Given the description of an element on the screen output the (x, y) to click on. 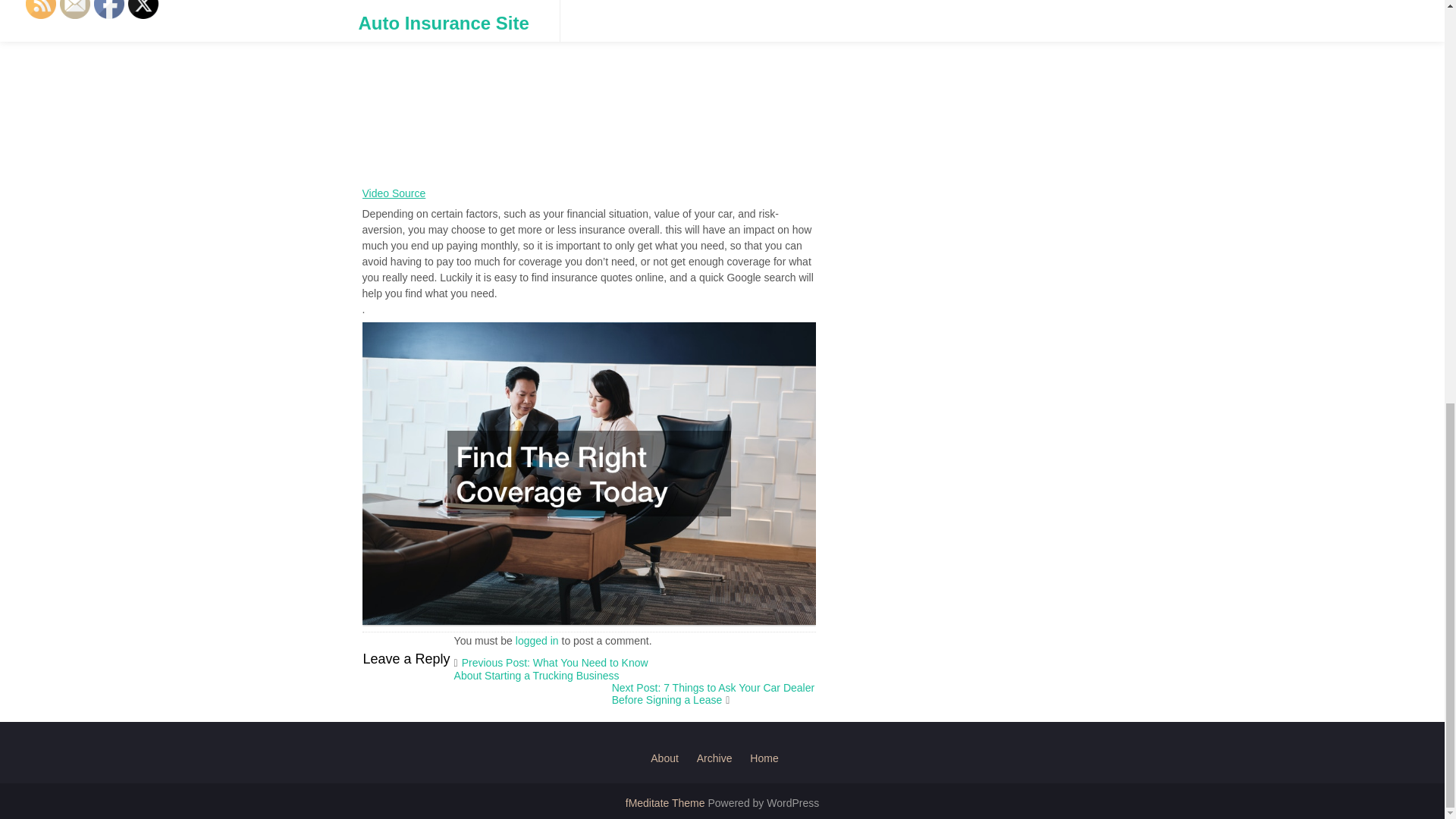
Home (763, 758)
fMeditate Theme (666, 802)
RSS (41, 9)
Video Source (394, 193)
Facebook (108, 9)
Archive (714, 758)
logged in (537, 640)
fMeditate Theme (666, 802)
